Given the description of an element on the screen output the (x, y) to click on. 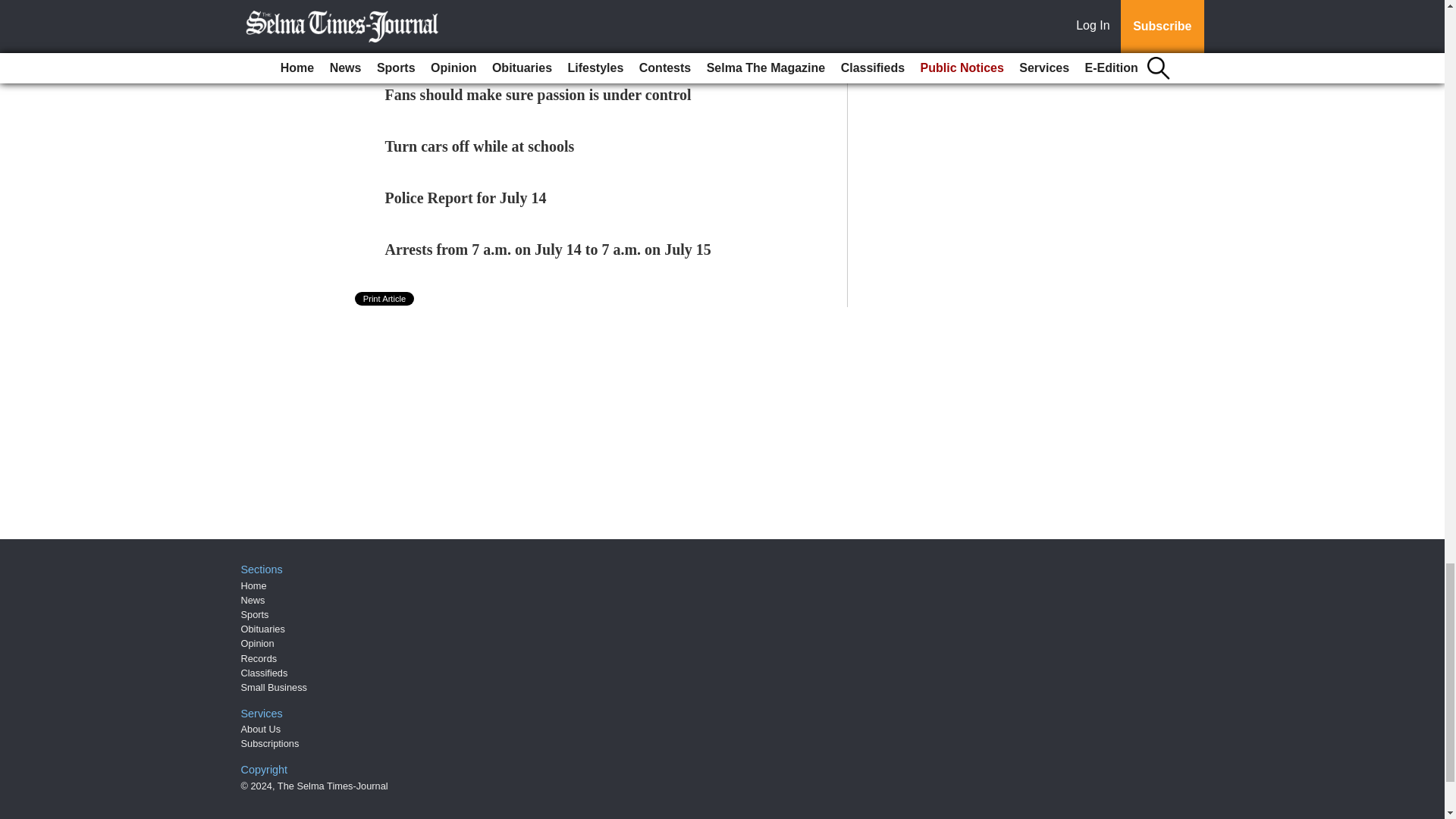
Arrests from 7 a.m. on July 14 to 7 a.m. on July 15 (548, 248)
Turn cars off while at schools (480, 146)
Arrests from 7 a.m. on July 14 to 7 a.m. on July 15 (548, 248)
Police Report for July 14 (466, 197)
Turn cars off while at schools (480, 146)
Police Report for July 14 (466, 197)
Fans should make sure passion is under control (538, 94)
Home (253, 585)
Print Article (384, 298)
Fans should make sure passion is under control (538, 94)
